Given the description of an element on the screen output the (x, y) to click on. 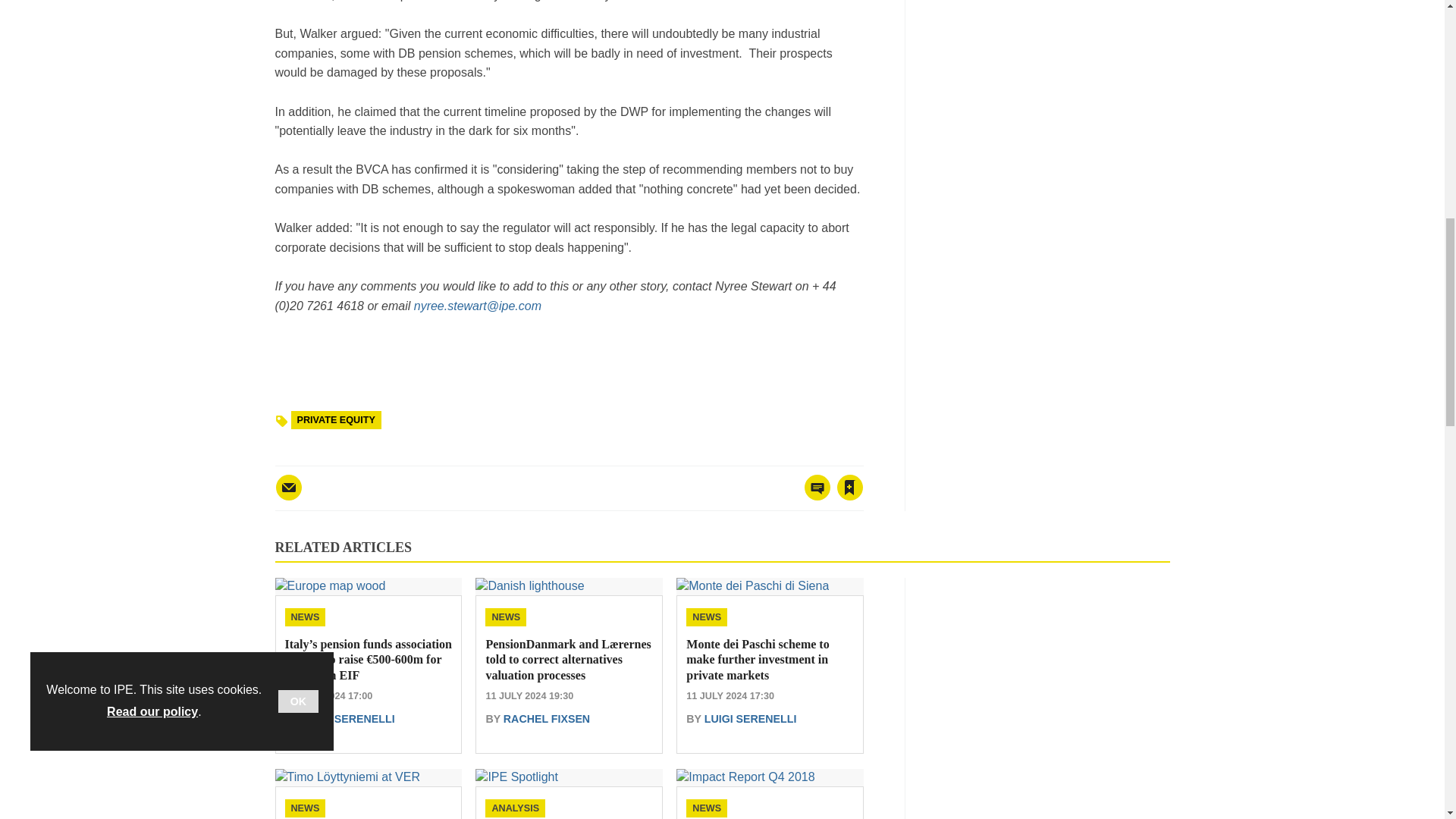
Email this article (288, 487)
